Given the description of an element on the screen output the (x, y) to click on. 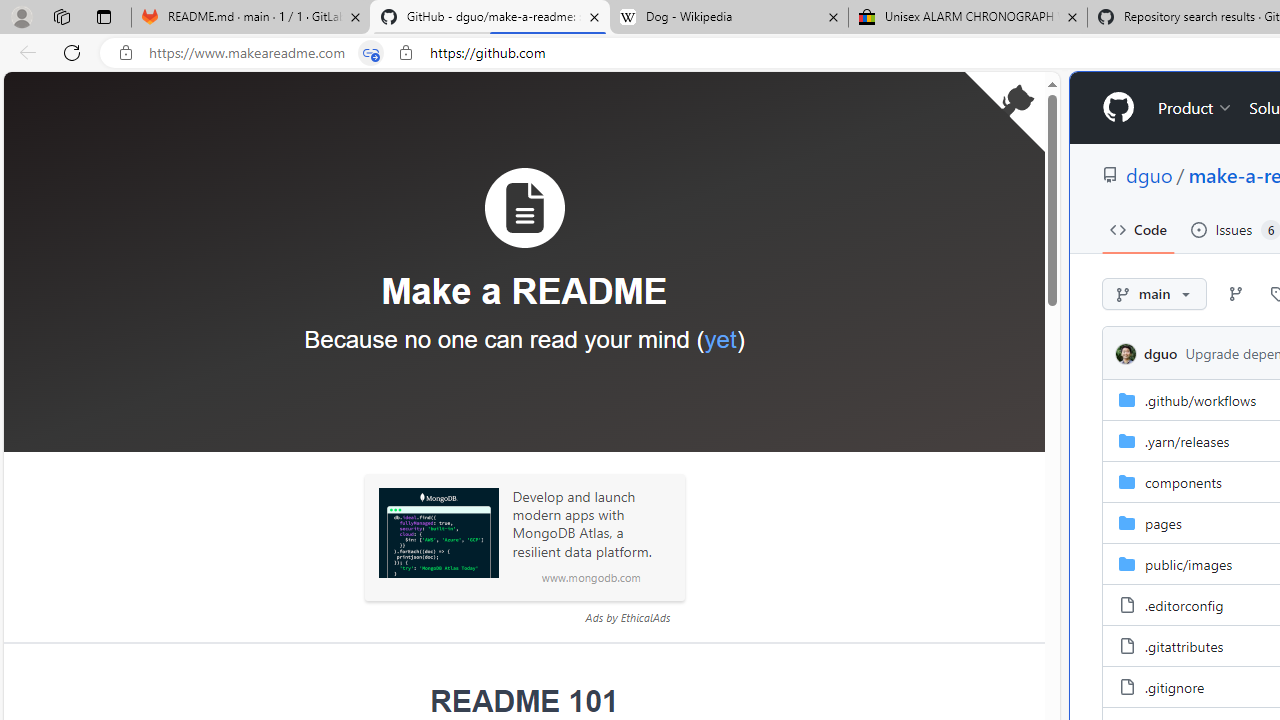
Code (1138, 229)
Anchor (417, 701)
.gitignore, (File) (1174, 686)
main branch (1155, 293)
Product (1195, 107)
.github/workflows, (Directory) (1200, 399)
Sponsored: MongoDB (438, 533)
.editorconfig, (File) (1184, 604)
commits by dguo (1160, 353)
dguo (1129, 353)
dguo (1126, 354)
